Given the description of an element on the screen output the (x, y) to click on. 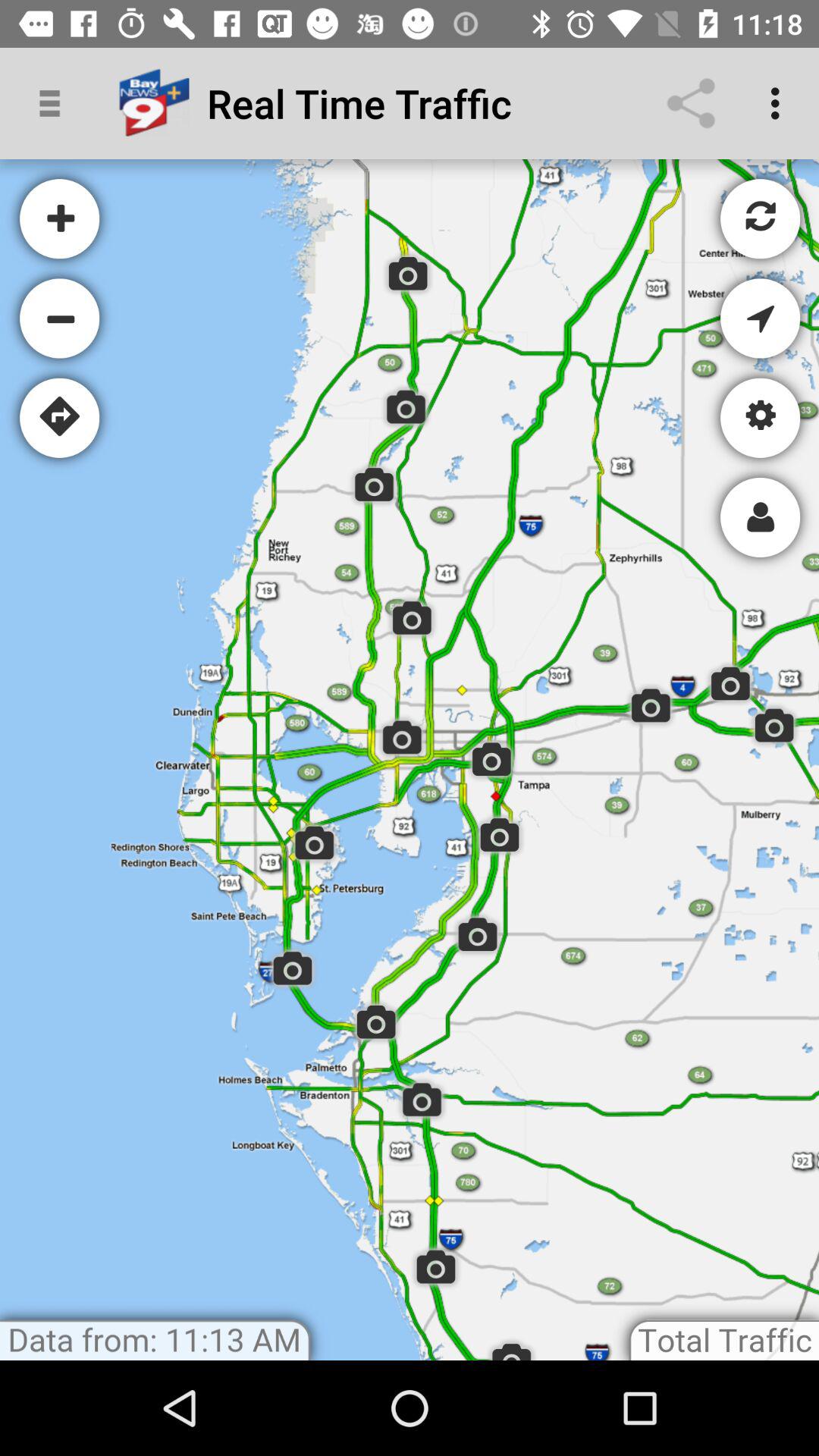
google playe (409, 759)
